Given the description of an element on the screen output the (x, y) to click on. 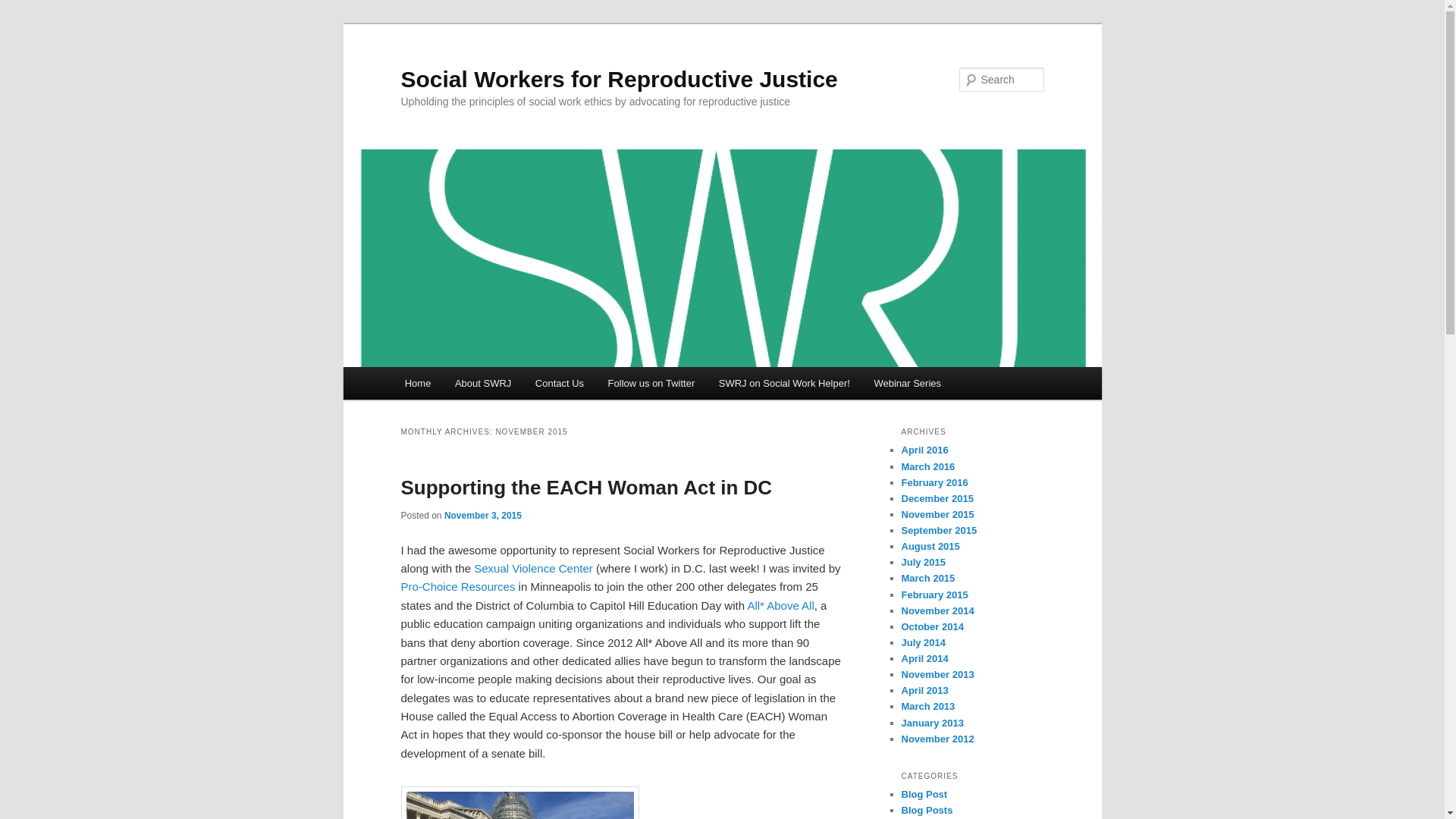
Permalink to Supporting the EACH Woman Act in DC (585, 486)
Skip to secondary content (479, 385)
Contact Us (558, 382)
April 2013 (924, 690)
12:25 pm (482, 515)
Blog Post (924, 794)
Search (24, 8)
January 2013 (931, 722)
August 2015 (930, 546)
September 2015 (938, 530)
